Given the description of an element on the screen output the (x, y) to click on. 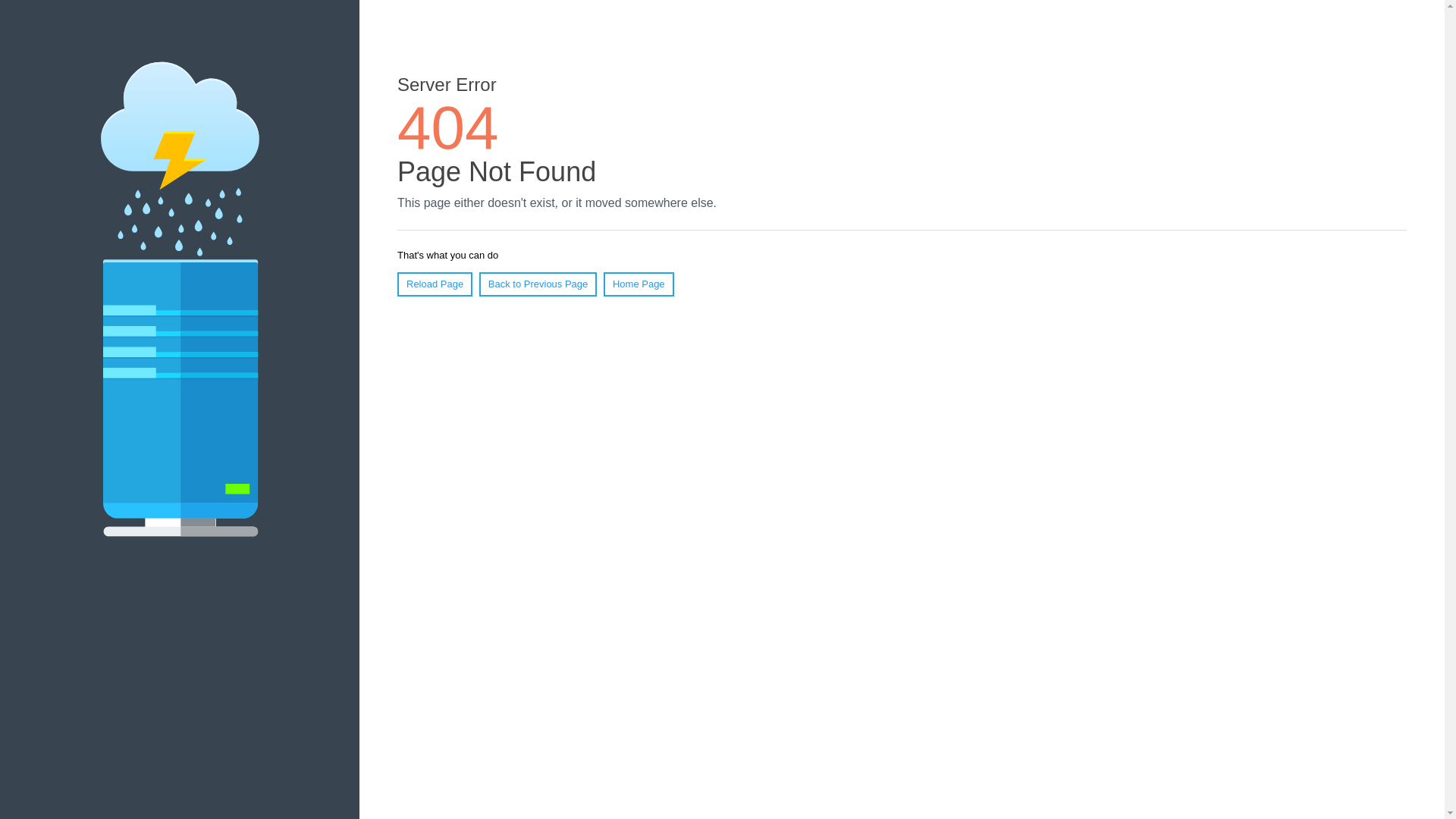
Reload Page Element type: text (434, 284)
Back to Previous Page Element type: text (538, 284)
Home Page Element type: text (638, 284)
